Given the description of an element on the screen output the (x, y) to click on. 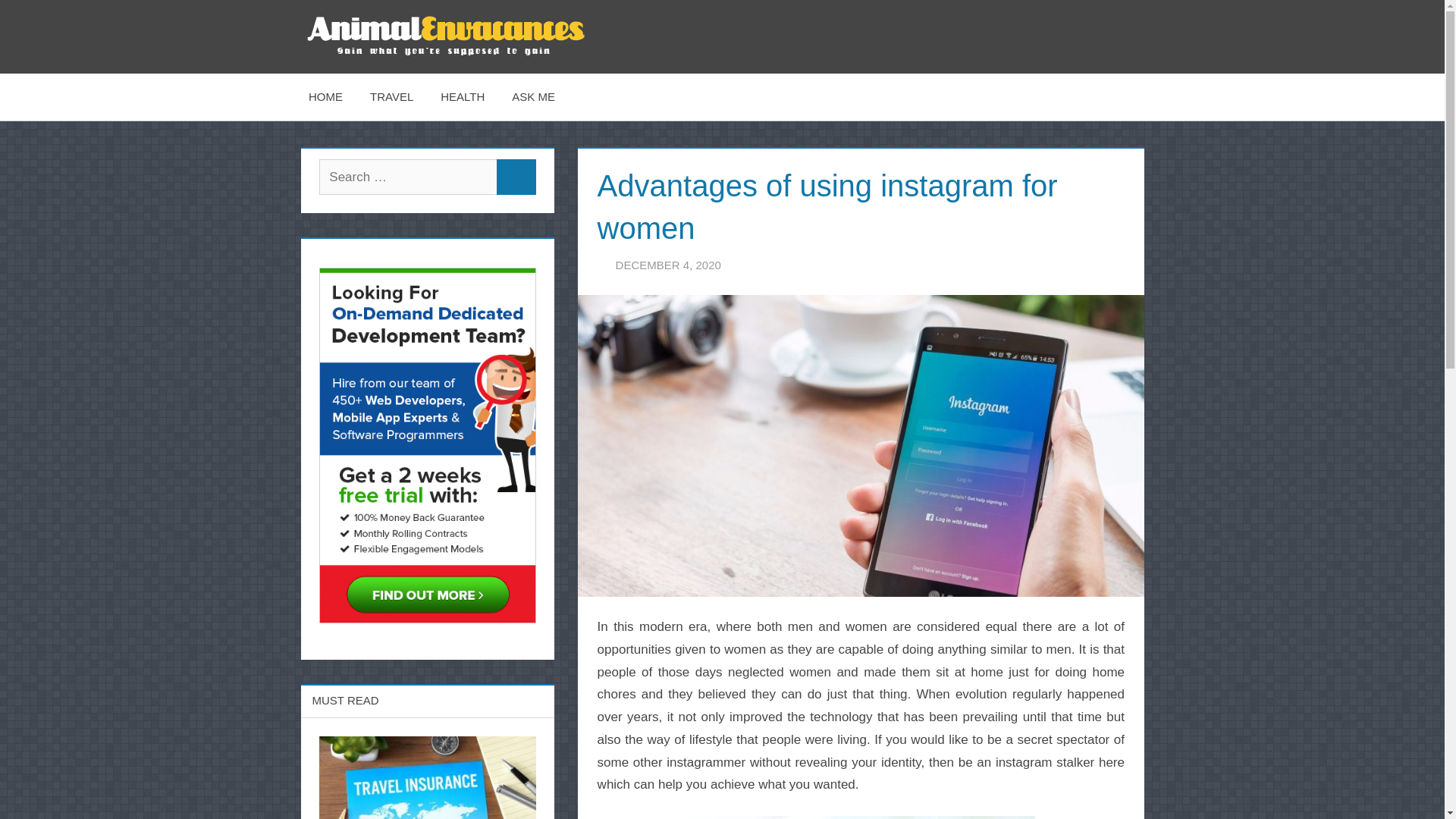
ASK ME (533, 95)
TRAVEL (391, 95)
PAUL (769, 264)
DECEMBER 4, 2020 (667, 264)
Search (515, 176)
10:03 am (667, 264)
HEALTH (461, 95)
View all posts by Paul (769, 264)
Search for: (407, 176)
HOME (325, 95)
